Given the description of an element on the screen output the (x, y) to click on. 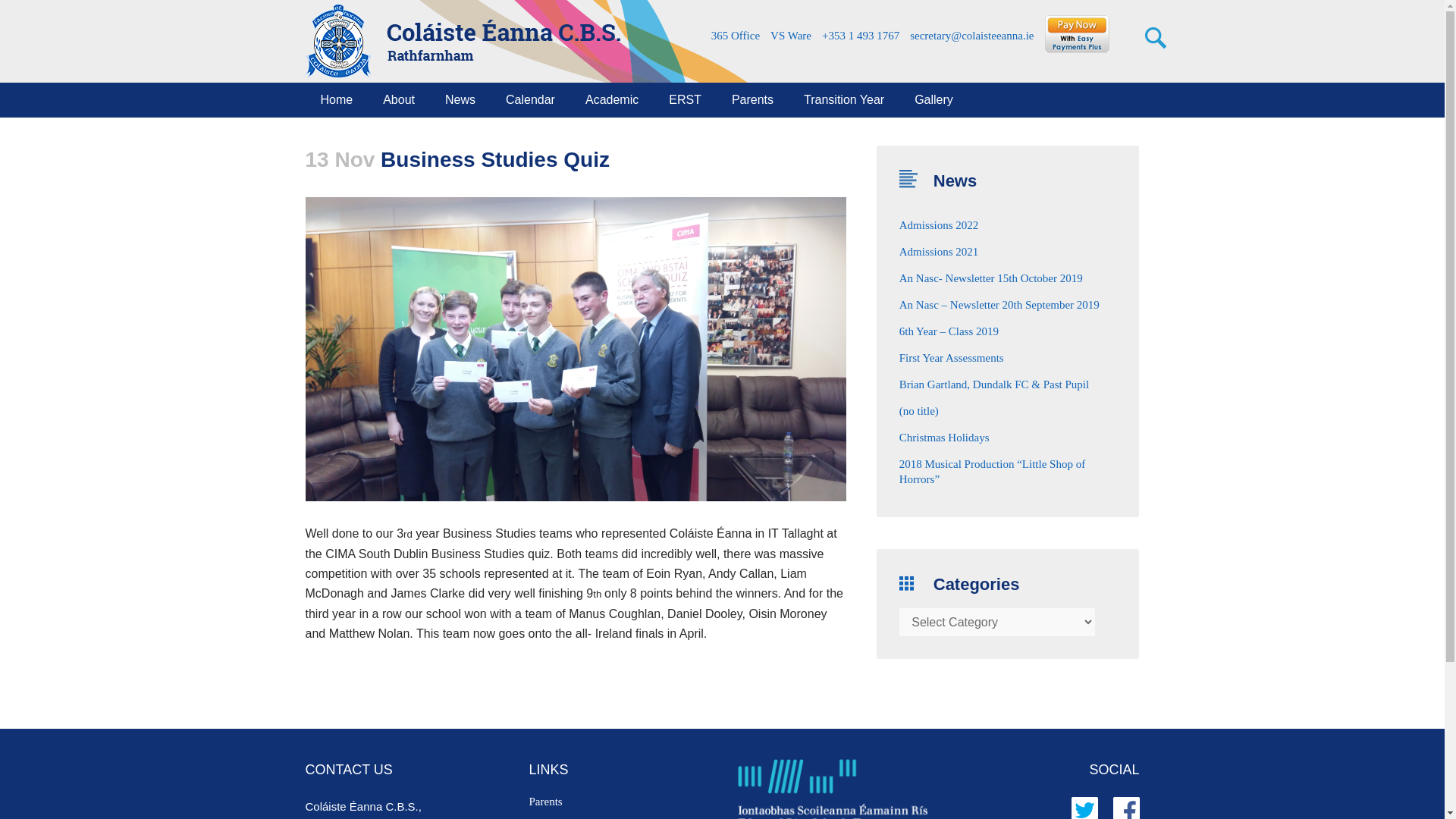
Calendar (530, 99)
ERST (684, 99)
365 Office (733, 35)
Parents (752, 99)
About (398, 99)
VS Ware (788, 35)
News (459, 99)
Academic (611, 99)
Home (336, 99)
Transition Year (844, 99)
Gallery (933, 99)
